Given the description of an element on the screen output the (x, y) to click on. 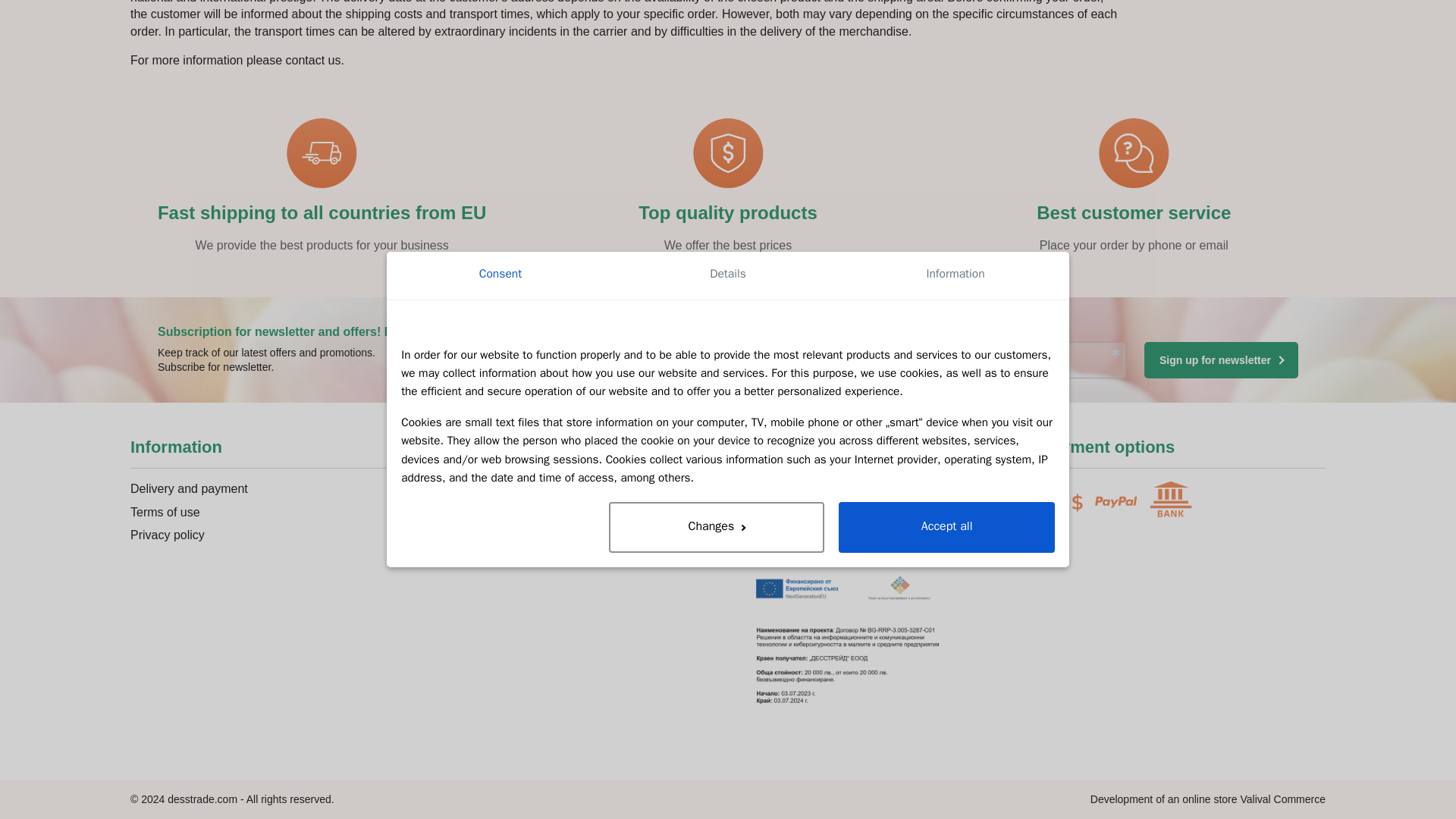
Privacy policy (839, 328)
Sign up for newsletter (1221, 360)
Privacy policy (839, 328)
